Given the description of an element on the screen output the (x, y) to click on. 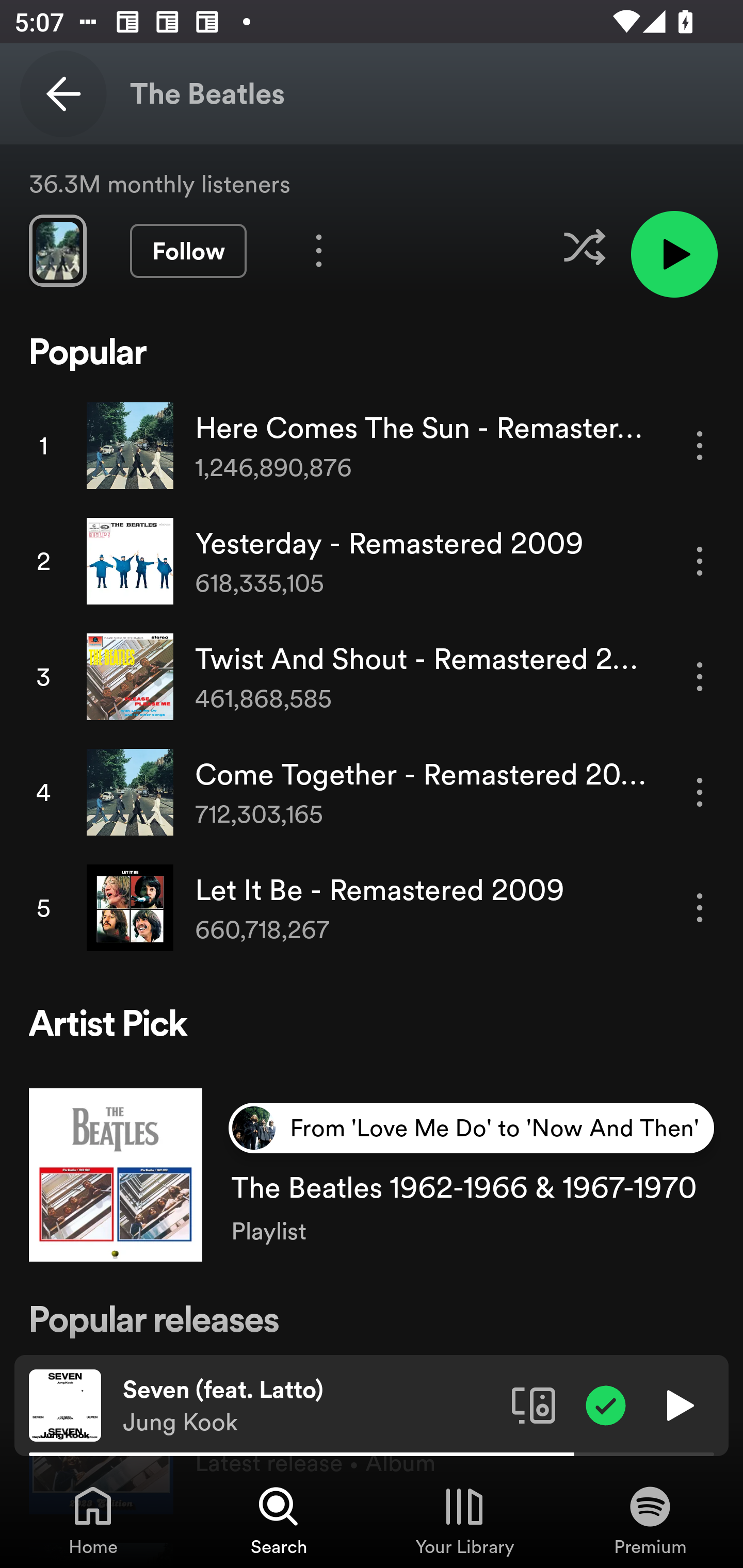
Back (63, 93)
Enable shuffle for this artist (583, 246)
Swipe through previews of tracks from this artist. (57, 250)
More options for artist The Beatles (318, 250)
Play artist (674, 253)
Follow (188, 250)
More options for song Yesterday - Remastered 2009 (699, 561)
More options for song Let It Be - Remastered 2009 (699, 907)
Seven (feat. Latto) Jung Kook (309, 1405)
The cover art of the currently playing track (64, 1404)
Connect to a device. Opens the devices menu (533, 1404)
Item added (605, 1404)
Play (677, 1404)
Home, Tab 1 of 4 Home Home (92, 1519)
Search, Tab 2 of 4 Search Search (278, 1519)
Your Library, Tab 3 of 4 Your Library Your Library (464, 1519)
Premium, Tab 4 of 4 Premium Premium (650, 1519)
